Given the description of an element on the screen output the (x, y) to click on. 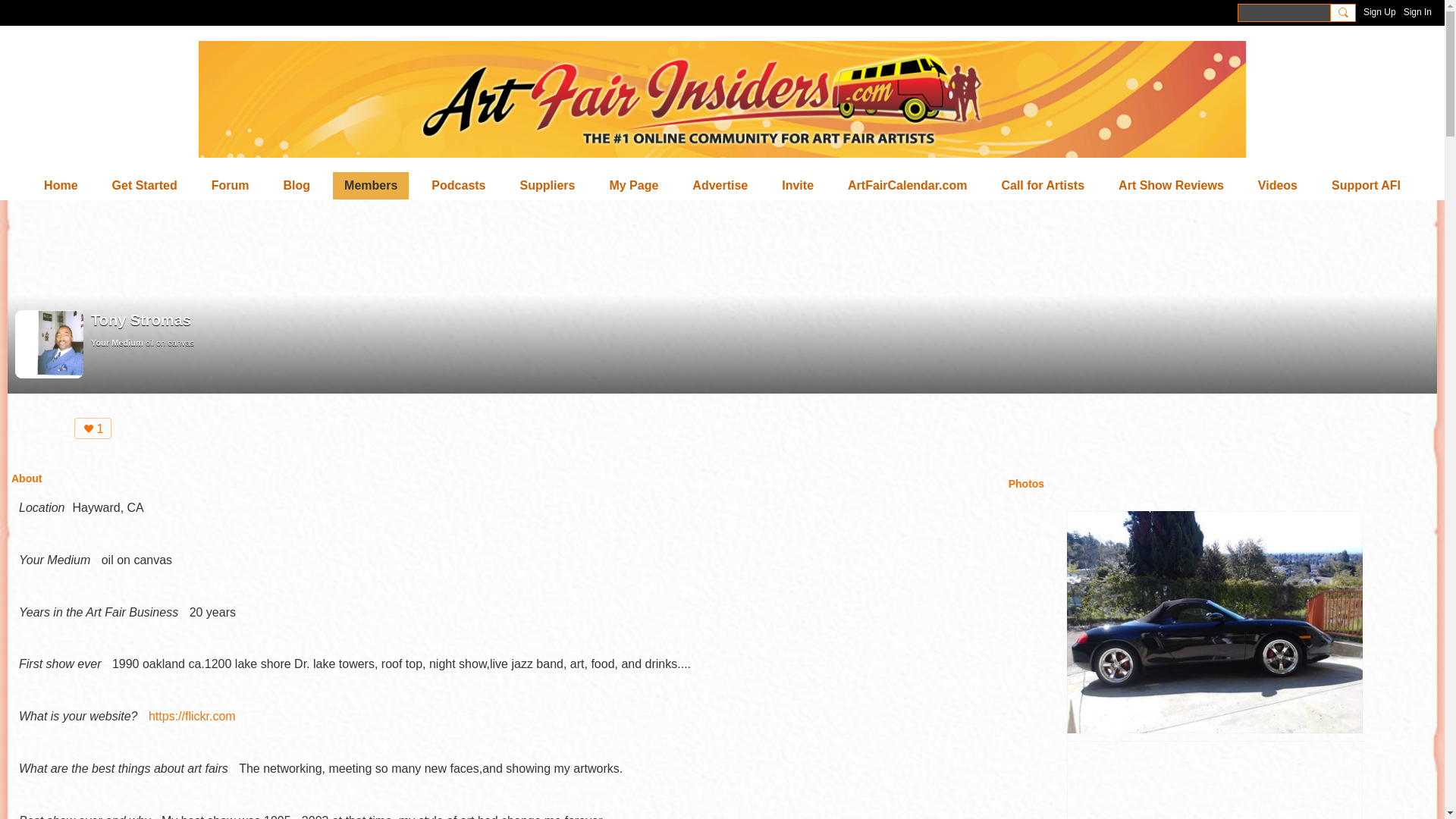
My Page (632, 185)
Suppliers (547, 185)
Art Show Reviews (1170, 185)
Support AFI (1366, 185)
Sign Up (1379, 12)
Blog (296, 185)
Videos (1277, 185)
Like (93, 427)
1 (93, 427)
Get Started (144, 185)
Forum (230, 185)
Sign In (1417, 12)
ArtFairCalendar.com (906, 185)
Home (60, 185)
Invite (797, 185)
